Given the description of an element on the screen output the (x, y) to click on. 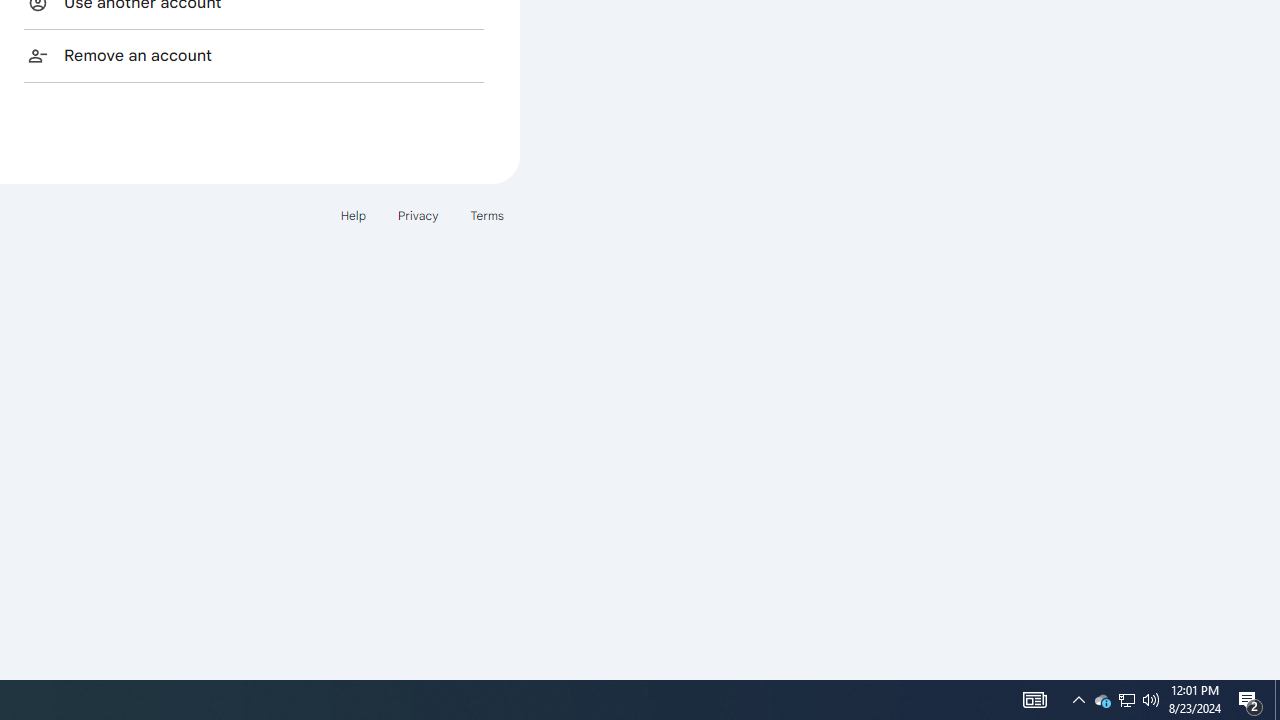
Terms (486, 214)
Privacy (417, 214)
Help (352, 214)
Remove an account (253, 55)
